Given the description of an element on the screen output the (x, y) to click on. 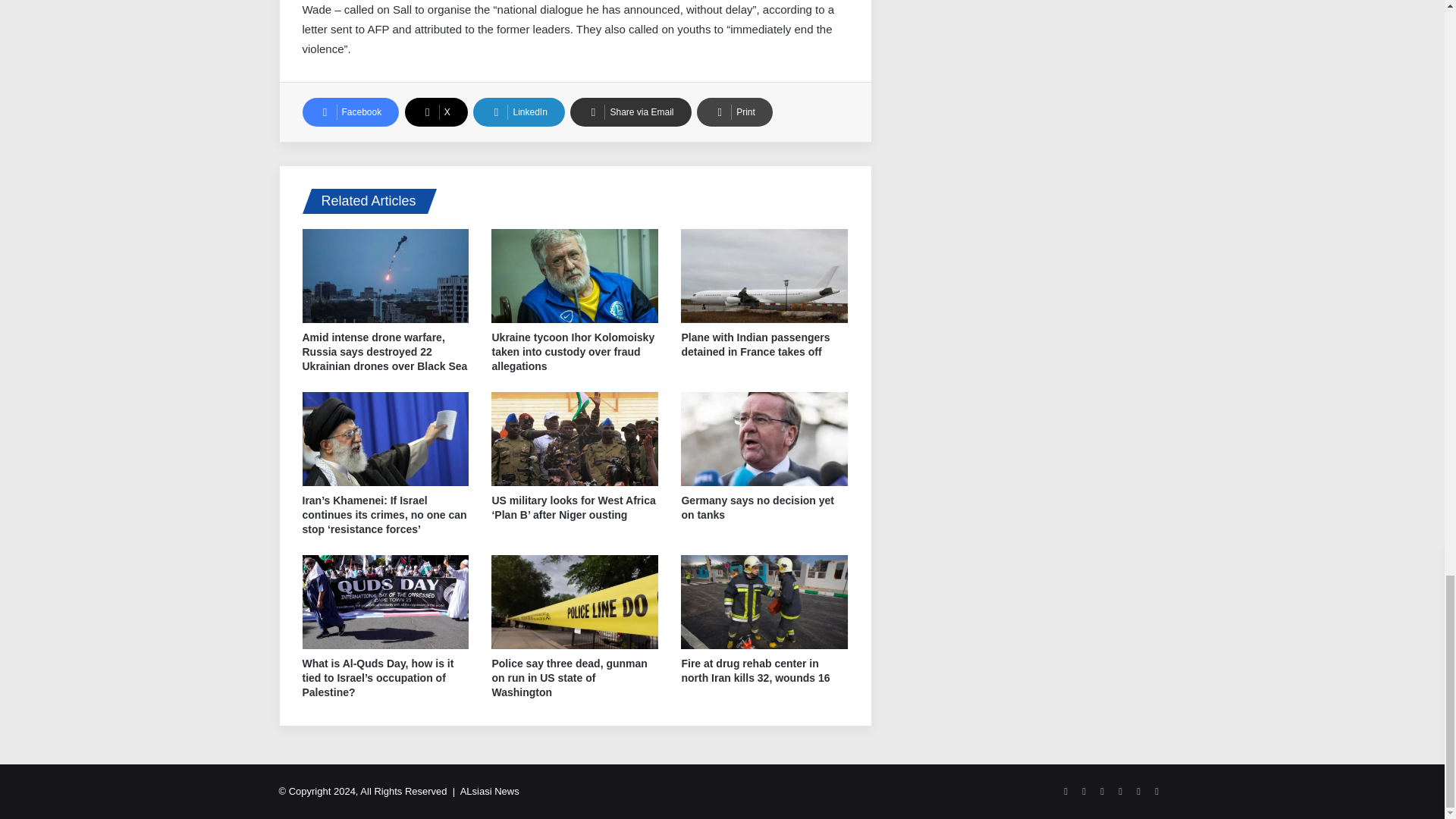
Germany says no decision yet on tanks (757, 507)
LinkedIn (518, 111)
Facebook (349, 111)
Plane with Indian passengers detained in France takes off (755, 344)
Print (735, 111)
Share via Email (630, 111)
X (435, 111)
LinkedIn (518, 111)
Fire at drug rehab center in north Iran kills 32, wounds 16 (755, 670)
Facebook (349, 111)
X (435, 111)
Print (735, 111)
